Given the description of an element on the screen output the (x, y) to click on. 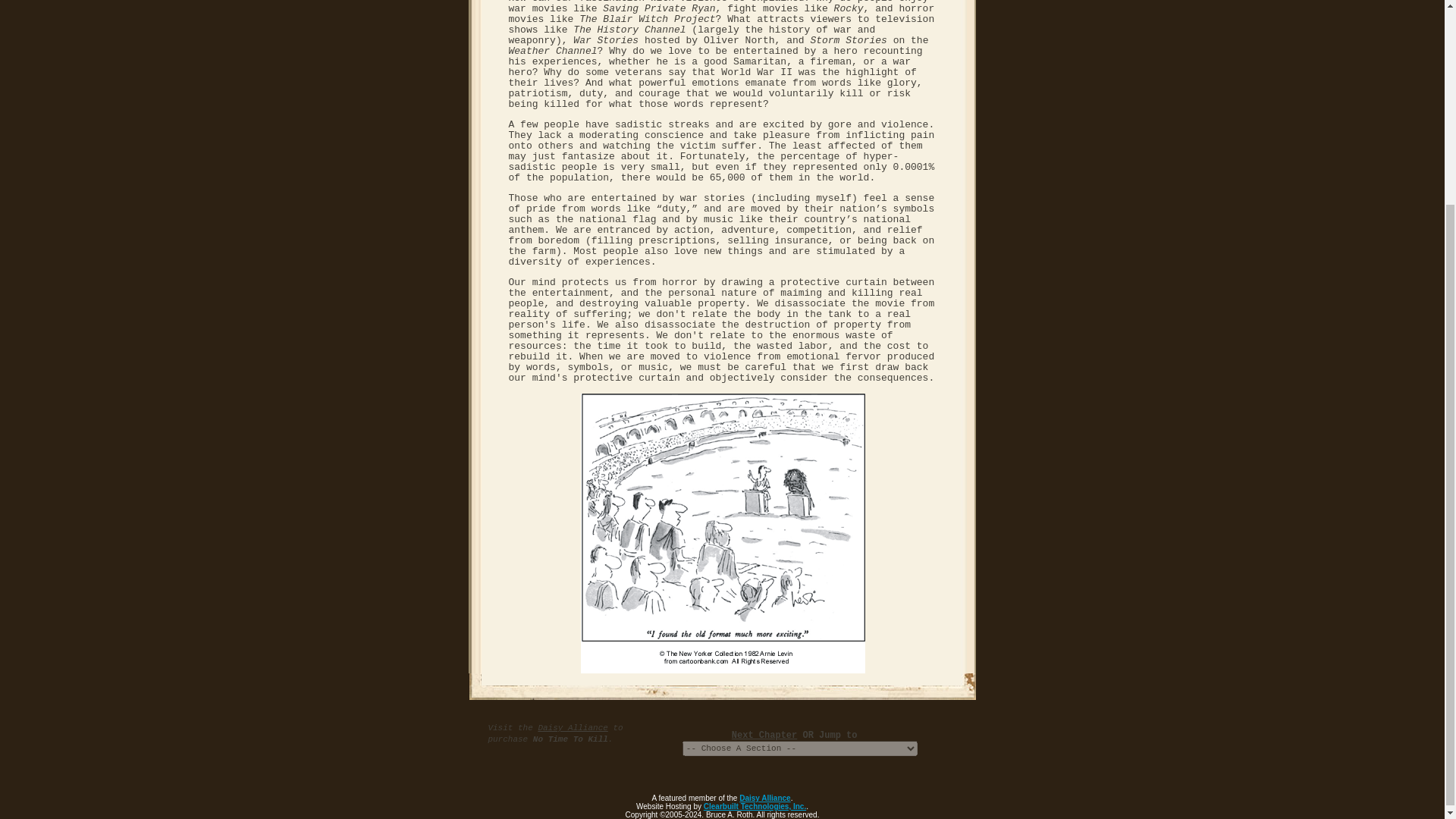
Daisy Alliance (764, 797)
Daisy Alliance (572, 727)
Clearbuilt Technologies, Inc. (754, 806)
Next Chapter (764, 735)
